Given the description of an element on the screen output the (x, y) to click on. 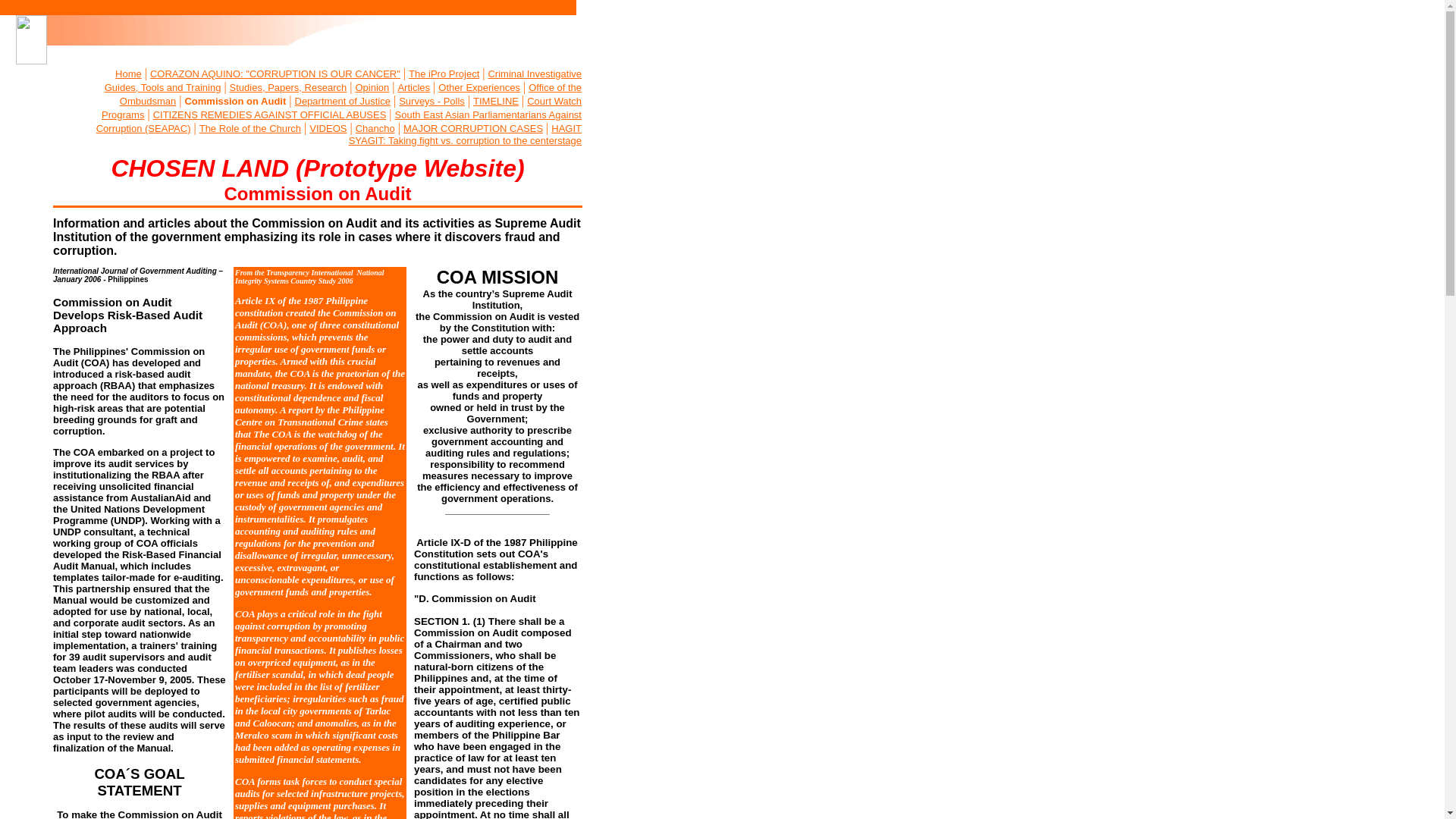
Office of the Ombudsman (349, 94)
Chancho (374, 128)
CITIZENS REMEDIES AGAINST OFFICIAL ABUSES (269, 114)
The iPro Project (444, 73)
Studies, Papers, Research (288, 87)
CORAZON AQUINO: "CORRUPTION IS OUR CANCER" (274, 73)
Court Watch Programs (340, 107)
Opinion (371, 87)
Criminal Investigative Guides, Tools and Training (342, 80)
The Role of the Church (250, 128)
HAGIT SYAGIT: Taking fight vs. corruption to the centerstage (464, 134)
MAJOR CORRUPTION CASES (473, 128)
Articles (413, 87)
Other Experiences (478, 87)
Department of Justice (342, 101)
